Given the description of an element on the screen output the (x, y) to click on. 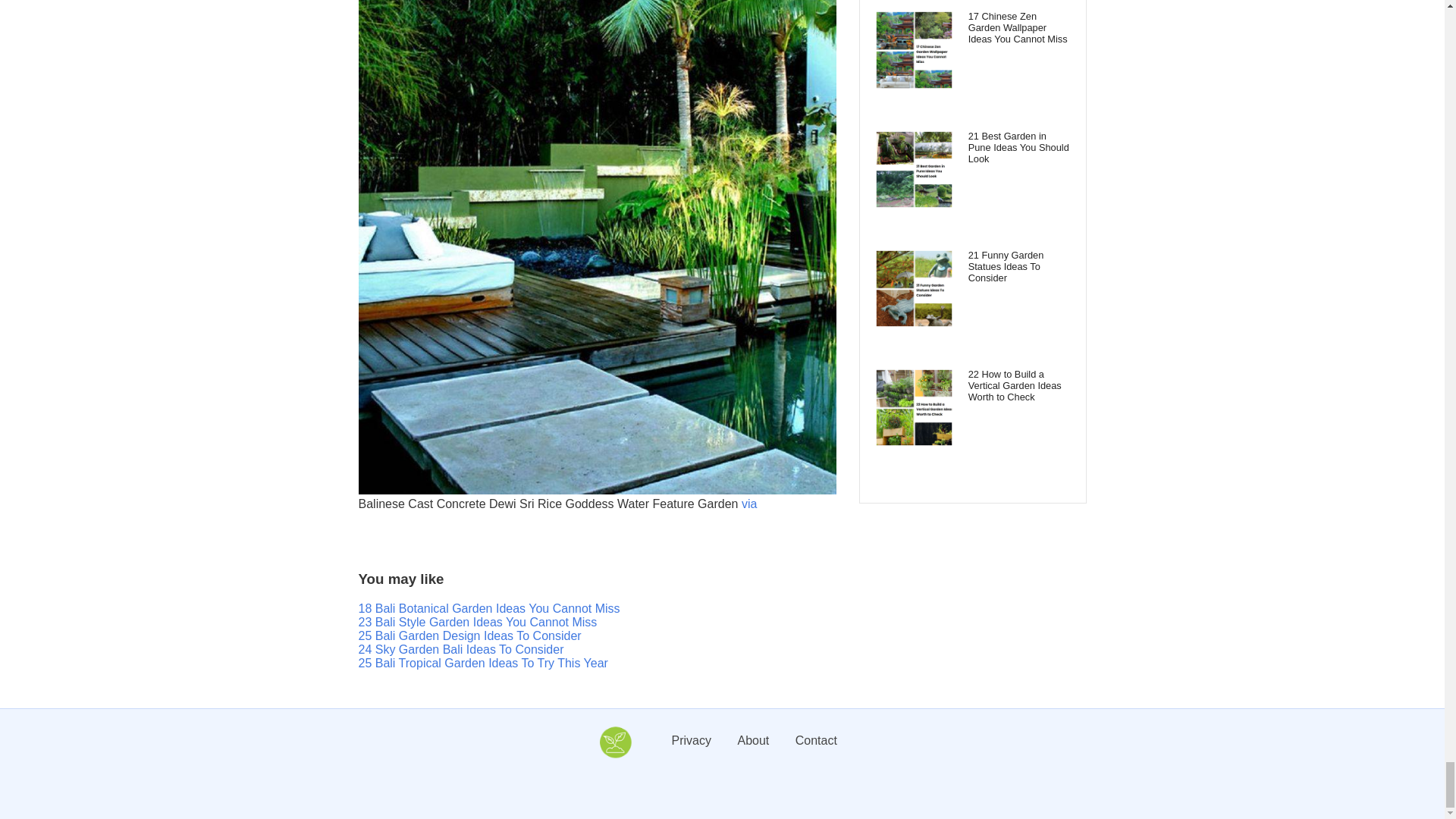
18 Bali Botanical Garden Ideas You Cannot Miss (489, 608)
25 Bali Tropical Garden Ideas To Try This Year (482, 662)
25 Bali Garden Design Ideas To Consider (469, 635)
23 Bali Style Garden Ideas You Cannot Miss (477, 621)
Home Page (614, 755)
via (749, 503)
24 Sky Garden Bali Ideas To Consider (460, 649)
